Given the description of an element on the screen output the (x, y) to click on. 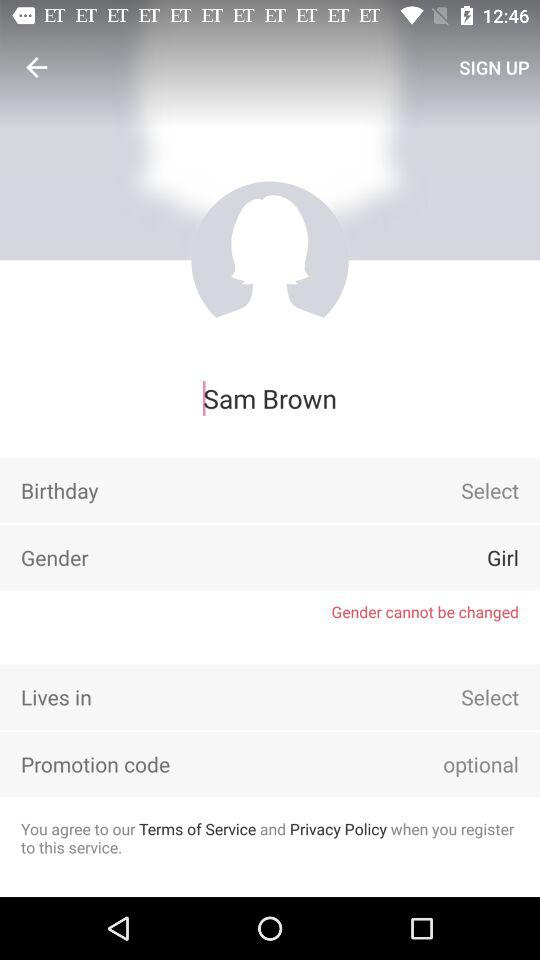
choose sam brown item (270, 398)
